Given the description of an element on the screen output the (x, y) to click on. 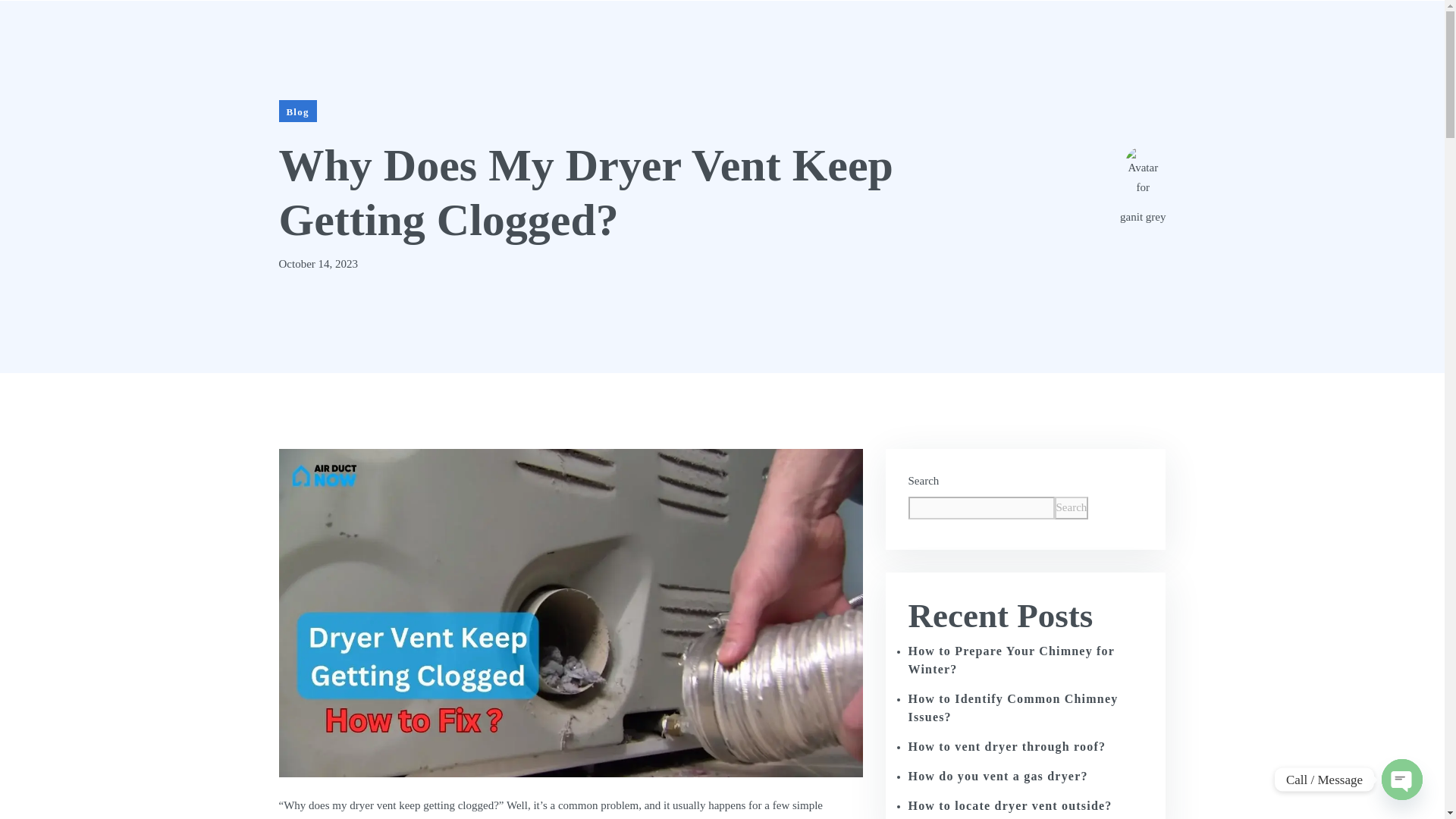
How to Prepare Your Chimney for Winter? (1011, 659)
Search (1070, 507)
How to locate dryer vent outside? (1010, 805)
Blog (298, 110)
How to vent dryer through roof? (1007, 746)
How do you vent a gas dryer? (997, 775)
How to Identify Common Chimney Issues? (1013, 707)
